Given the description of an element on the screen output the (x, y) to click on. 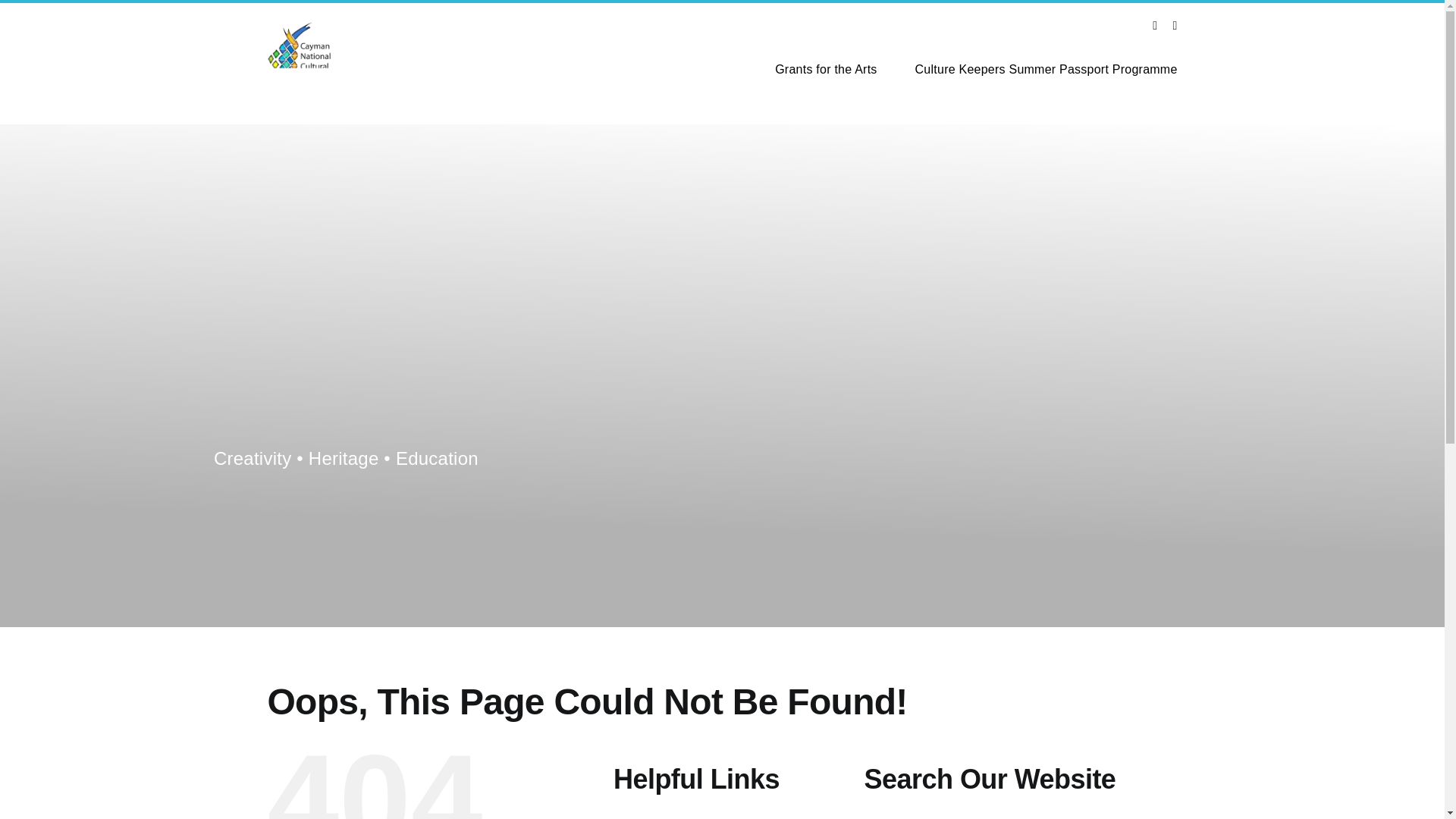
Grants for the Arts (825, 69)
Culture Keepers Summer Passport Programme (1046, 69)
